Given the description of an element on the screen output the (x, y) to click on. 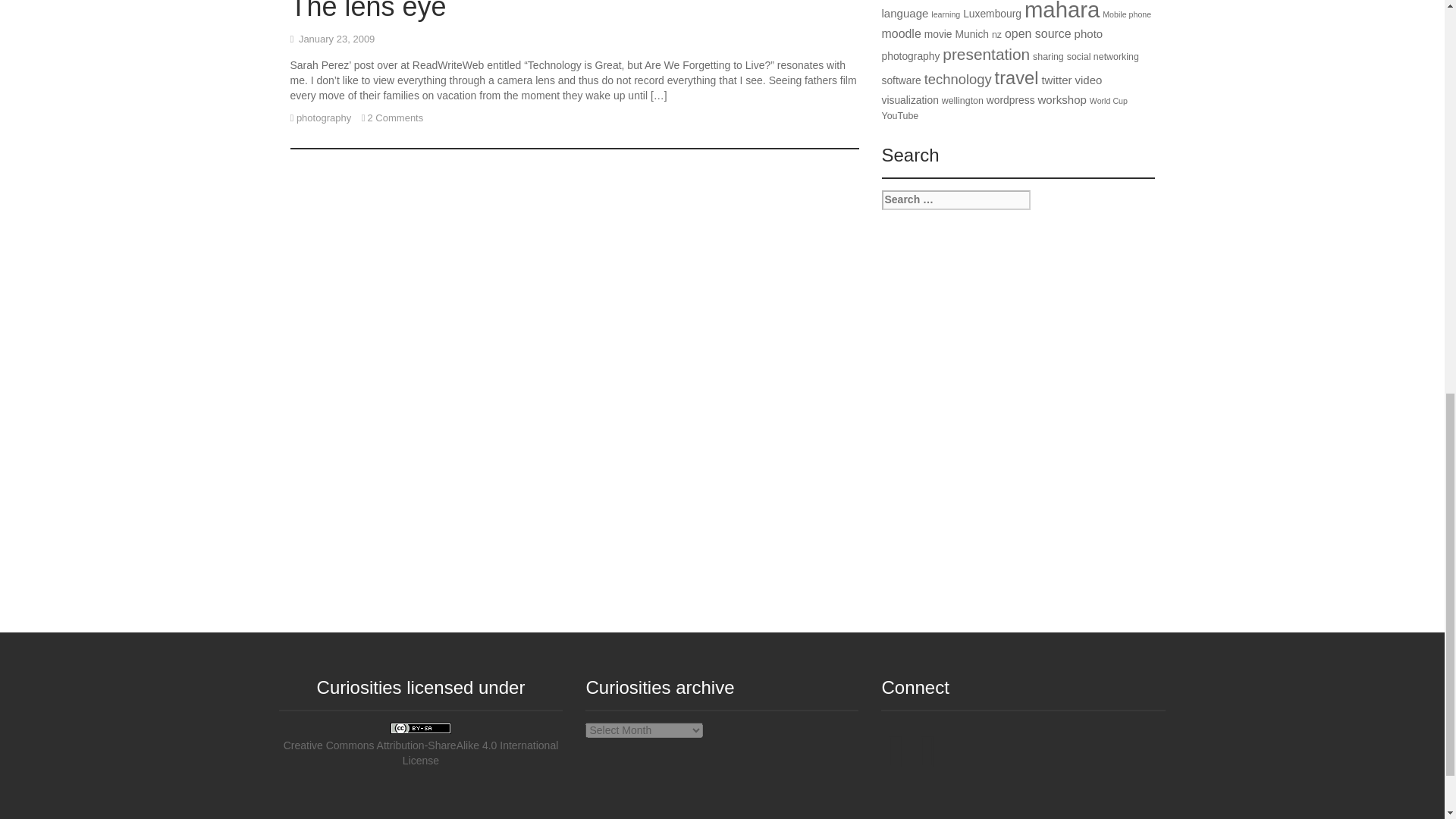
YouTube (927, 762)
2 Comments (395, 117)
The lens eye (367, 11)
Twitter (895, 762)
photography (323, 117)
January 23, 2009 (336, 39)
